Given the description of an element on the screen output the (x, y) to click on. 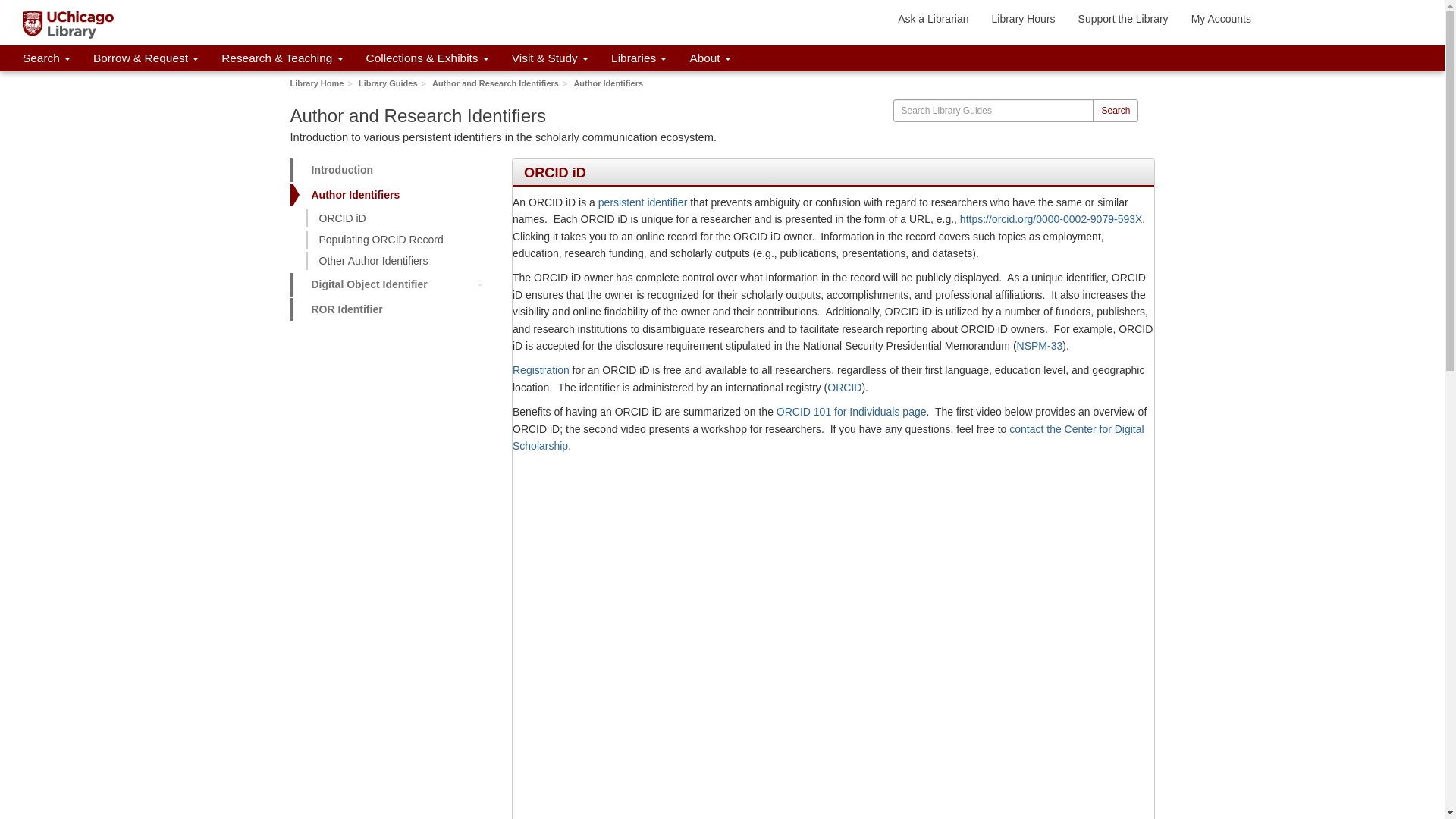
Ask a Librarian (932, 18)
My Accounts (1220, 18)
Library Hours (1023, 18)
YouTube video player (833, 766)
Support the Library (1123, 18)
Search (46, 58)
